Given the description of an element on the screen output the (x, y) to click on. 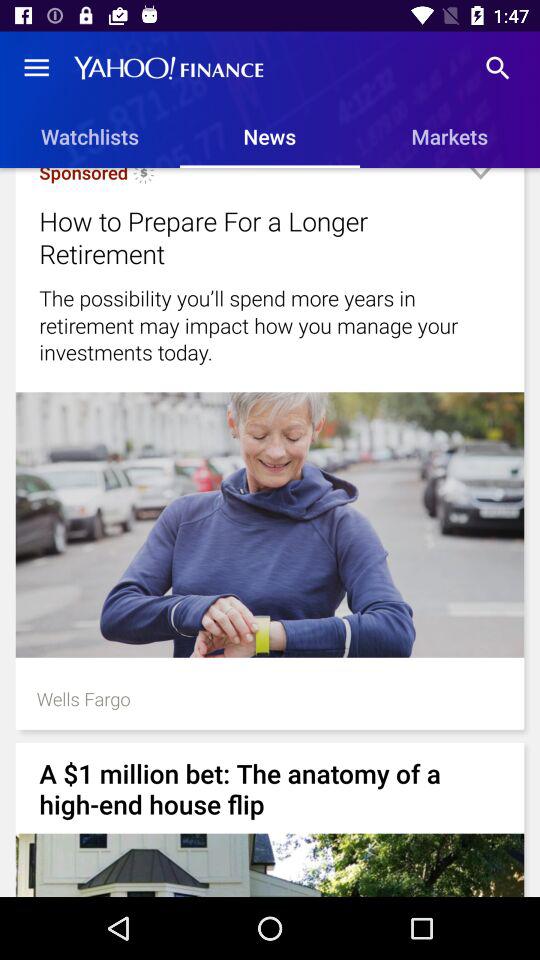
launch the item below markets (480, 181)
